Given the description of an element on the screen output the (x, y) to click on. 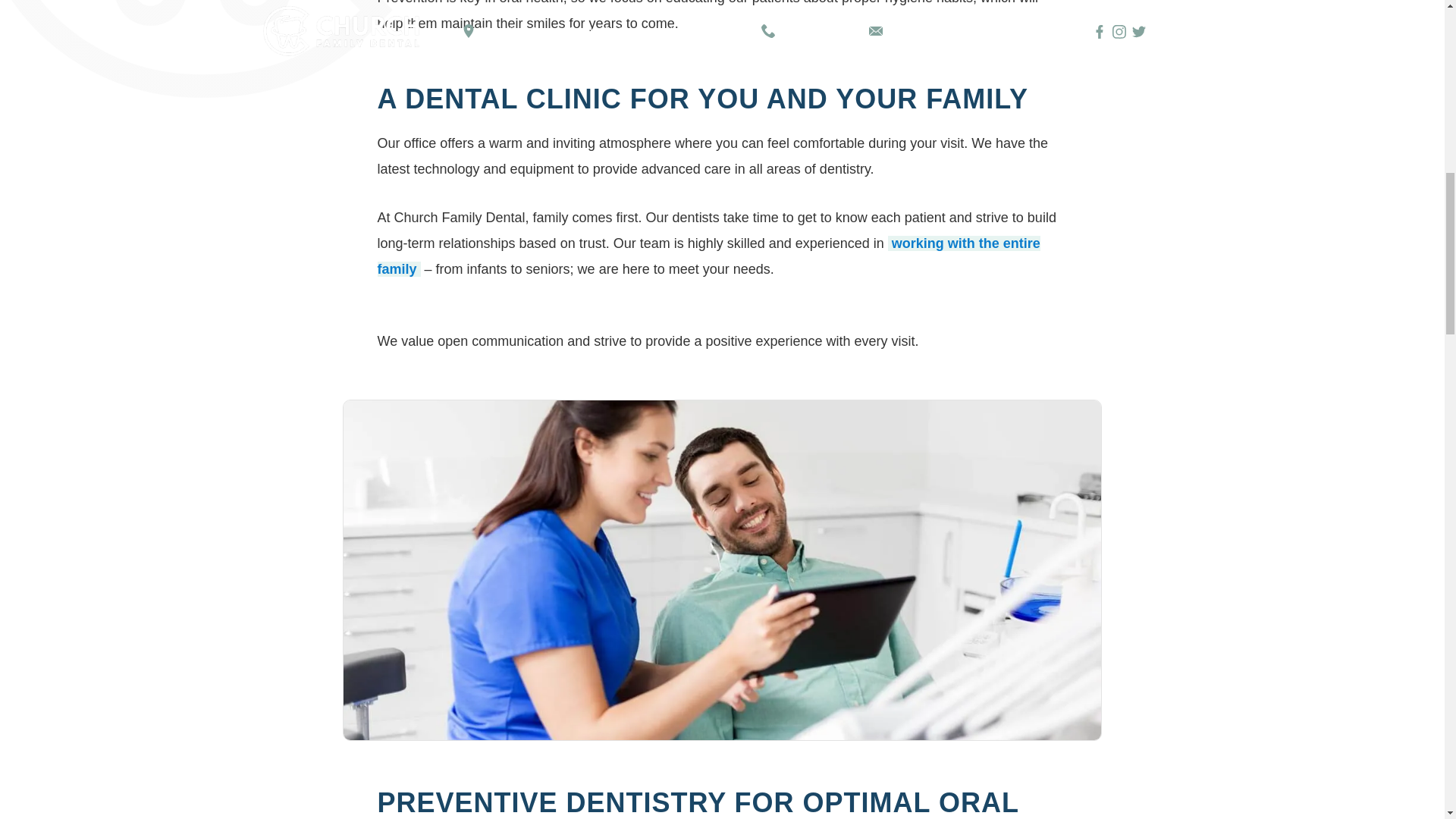
working with the entire family (709, 255)
